Given the description of an element on the screen output the (x, y) to click on. 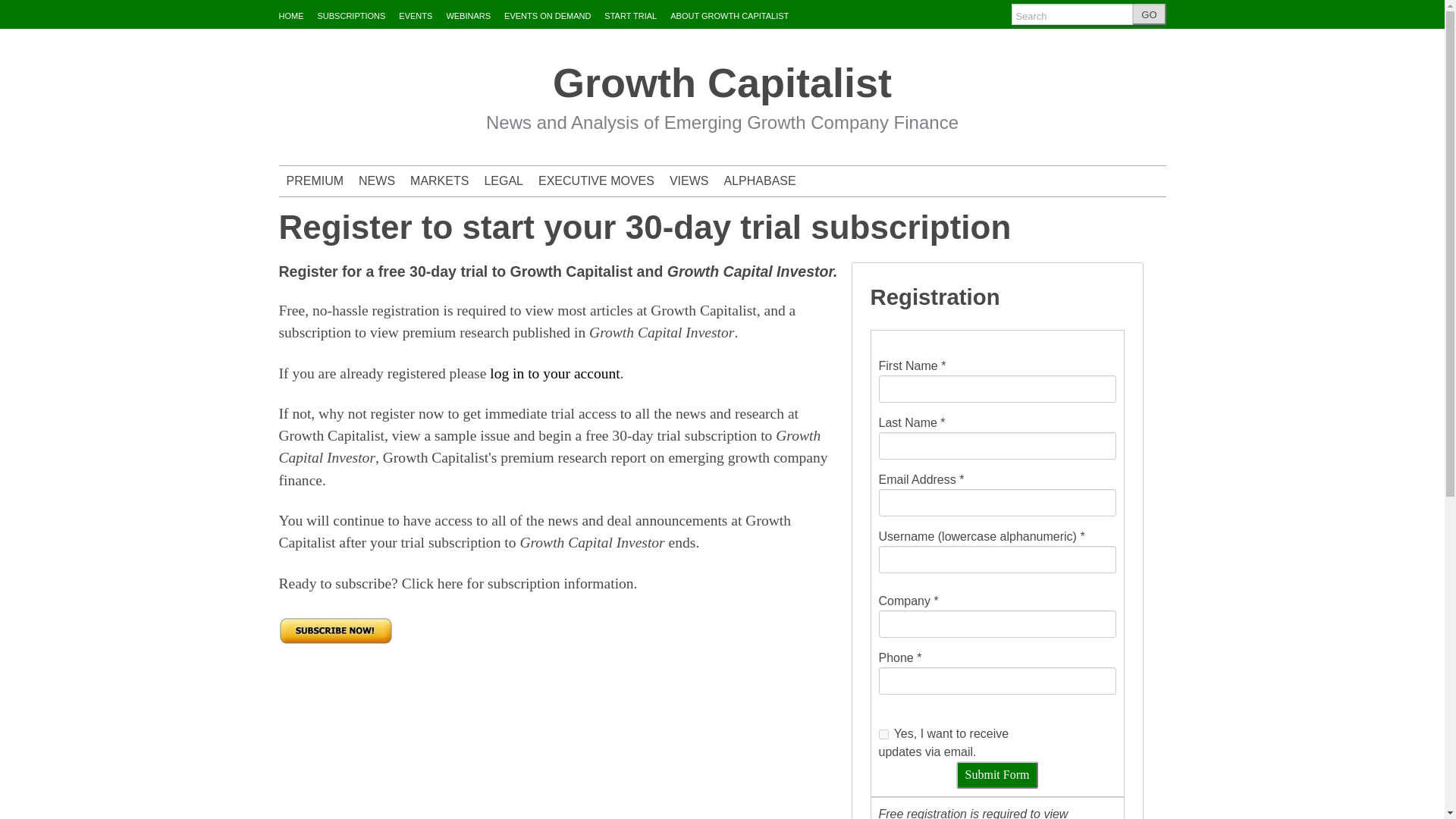
LEGAL (503, 180)
SUBSCRIPTIONS (351, 15)
MARKETS (439, 180)
START TRIAL (630, 15)
EVENTS (415, 15)
1 (882, 734)
Login to GrowthCapitalist.com (554, 373)
GO (1149, 14)
Submit Form (997, 774)
WEBINARS (467, 15)
NEWS (376, 180)
ABOUT GROWTH CAPITALIST (729, 15)
ALPHABASE (759, 180)
HOME (291, 15)
